Given the description of an element on the screen output the (x, y) to click on. 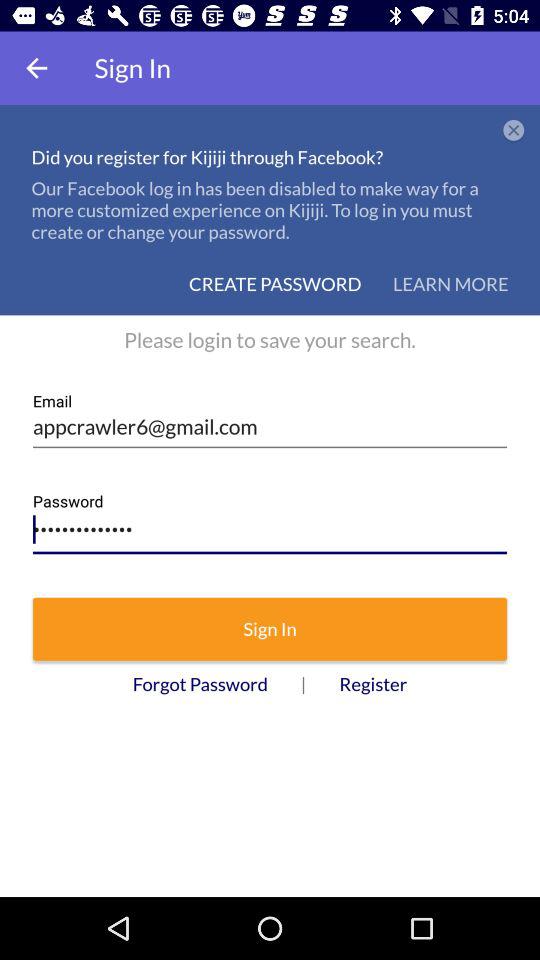
choose item to the left of sign in (36, 68)
